Given the description of an element on the screen output the (x, y) to click on. 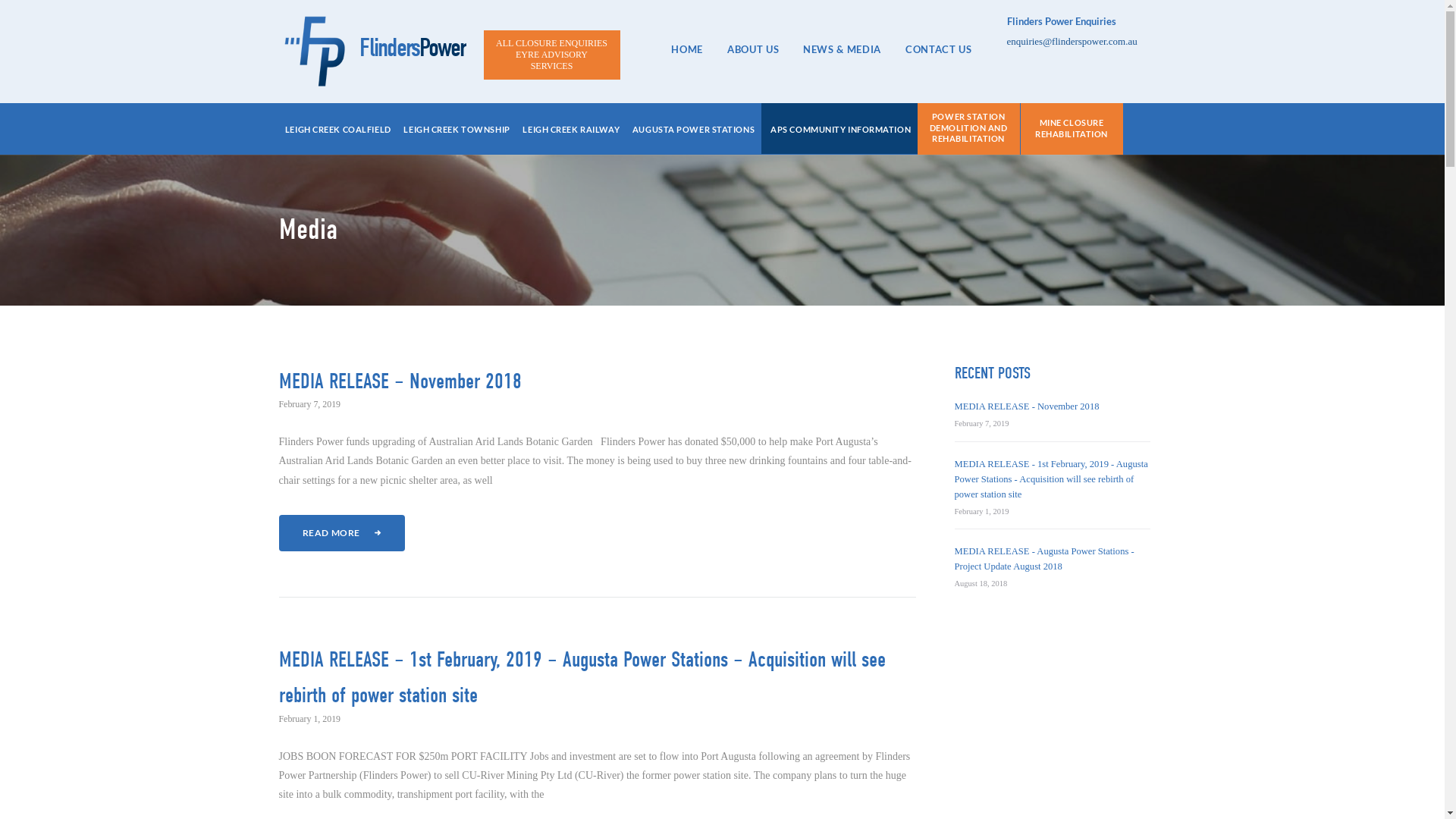
enquiries@flinderspower.com.au Element type: text (1072, 41)
LEIGH CREEK COALFIELD Element type: text (338, 130)
MINE CLOSURE REHABILITATION Element type: text (1071, 129)
LEIGH CREEK RAILWAY Element type: text (570, 130)
AUGUSTA POWER STATIONS Element type: text (693, 130)
February 7, 2019 Element type: text (980, 423)
August 18, 2018 Element type: text (980, 583)
LEIGH CREEK TOWNSHIP Element type: text (456, 130)
February 1, 2019 Element type: text (980, 511)
February 7, 2019 Element type: text (310, 403)
HOME Element type: text (686, 49)
READ MORE Element type: text (341, 532)
FlindersPower Element type: text (372, 54)
ALL CLOSURE ENQUIRIES EYRE ADVISORY SERVICES Element type: text (551, 54)
February 1, 2019 Element type: text (310, 717)
CONTACT US Element type: text (938, 49)
ABOUT US Element type: text (752, 49)
APS COMMUNITY INFORMATION Element type: text (840, 130)
MEDIA RELEASE - November 2018 Element type: text (1025, 406)
NEWS & MEDIA Element type: text (842, 49)
POWER STATION DEMOLITION AND REHABILITATION Element type: text (968, 128)
